Given the description of an element on the screen output the (x, y) to click on. 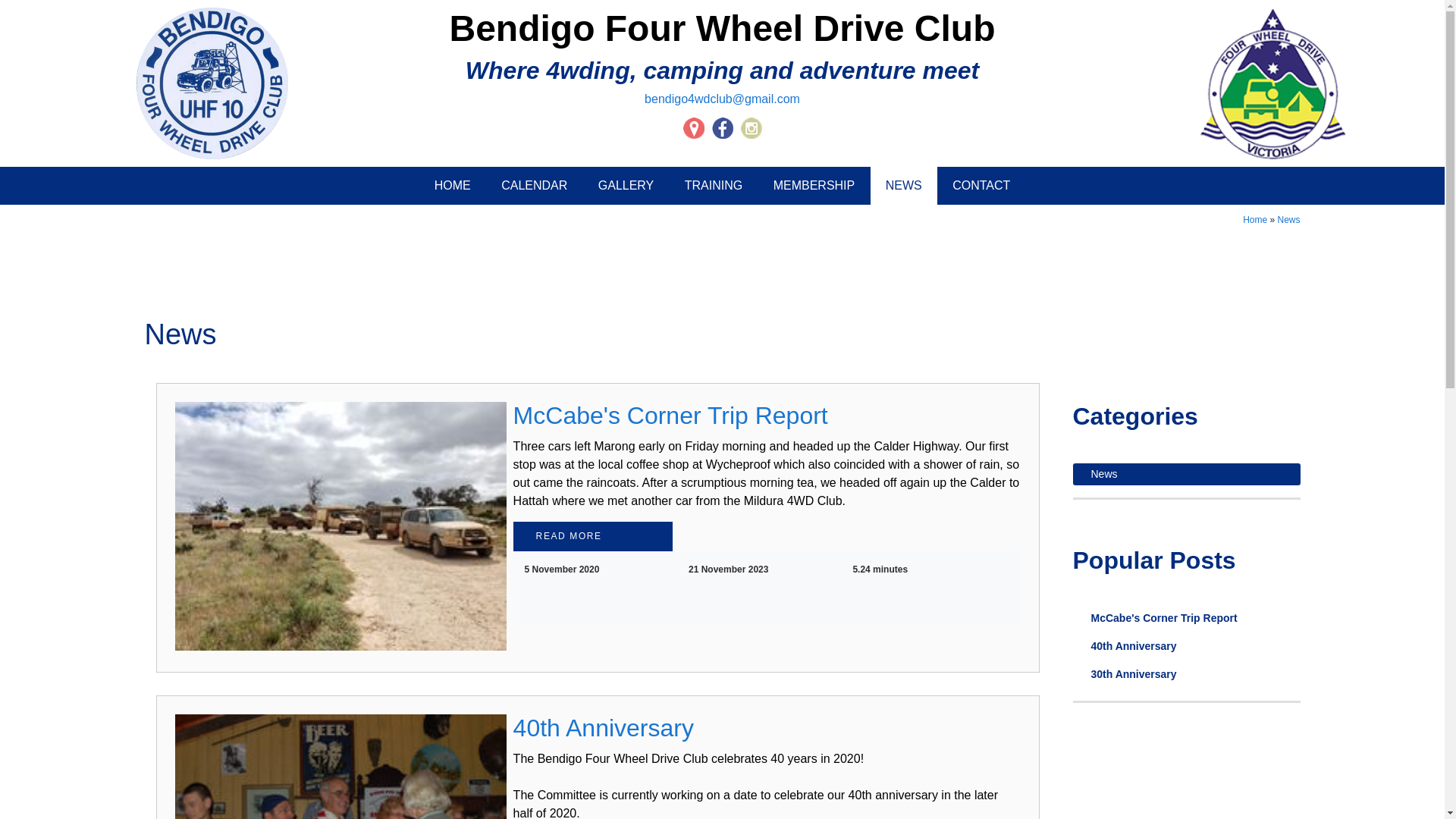
READ MORE Element type: text (592, 536)
View our Instagram Gallery Element type: hover (751, 127)
News Element type: text (1185, 474)
30th Anniversary Element type: text (1185, 674)
40th Anniversary Element type: text (1185, 646)
40th Anniversary Element type: text (603, 727)
Follow us on Facebook Element type: hover (722, 127)
Bendigo 4WD Club Element type: hover (212, 83)
McCabe's Corner Trip Report Element type: text (1185, 618)
NEWS Element type: text (903, 185)
HOME Element type: text (452, 185)
Our Location on Google maps Element type: hover (693, 127)
CALENDAR Element type: text (534, 185)
Four Wheel Drive Victoria Element type: hover (1272, 83)
bendigo4wdclub@gmail.com Element type: text (722, 98)
TRAINING Element type: text (713, 185)
Last Edited Element type: hover (686, 569)
GALLERY Element type: text (626, 185)
News Element type: text (1288, 219)
CONTACT Element type: text (981, 185)
Posted on Element type: hover (522, 569)
MEMBERSHIP Element type: text (814, 185)
reading time Element type: hover (850, 569)
McCabe's Corner Trip Report Element type: text (670, 415)
Home Element type: text (1254, 219)
